Given the description of an element on the screen output the (x, y) to click on. 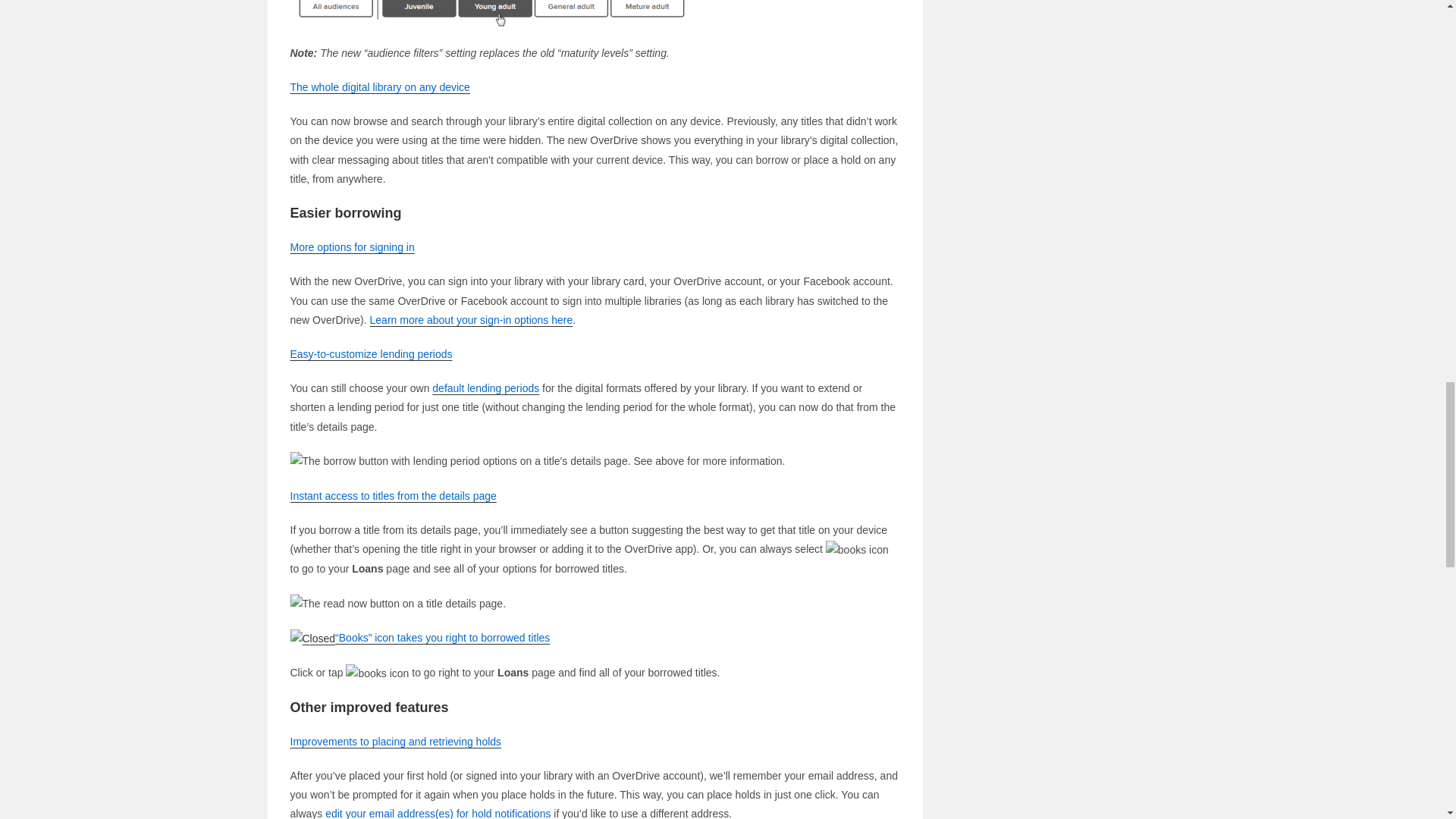
More options for signing in (351, 246)
default lending periods (485, 387)
Easy-to-customize lending periods (370, 354)
The whole digital library on any device (378, 87)
Instant access to titles from the details page (392, 495)
Learn more about your sign-in options here (471, 319)
